Given the description of an element on the screen output the (x, y) to click on. 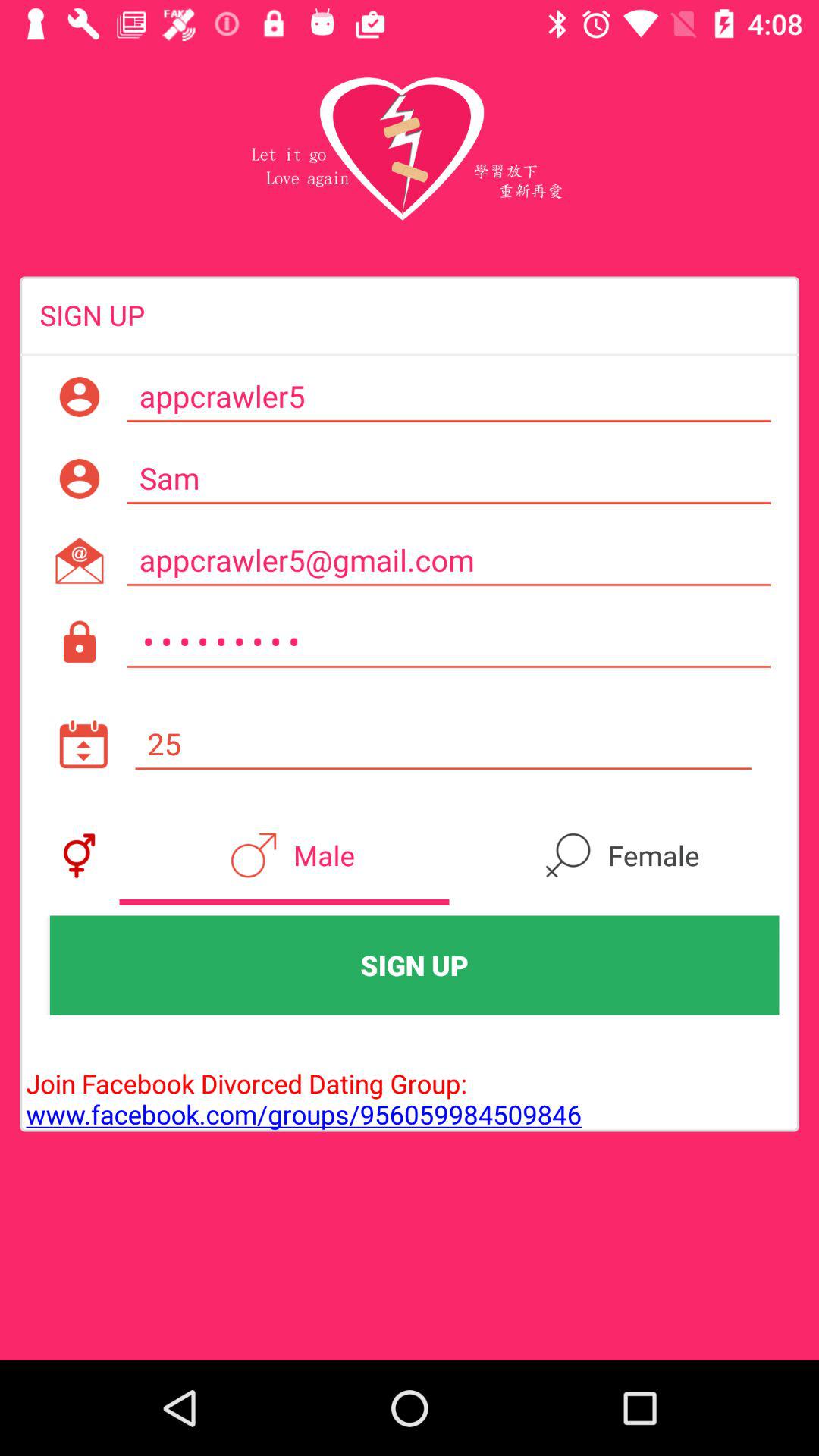
scroll to crowd3116 icon (449, 642)
